Given the description of an element on the screen output the (x, y) to click on. 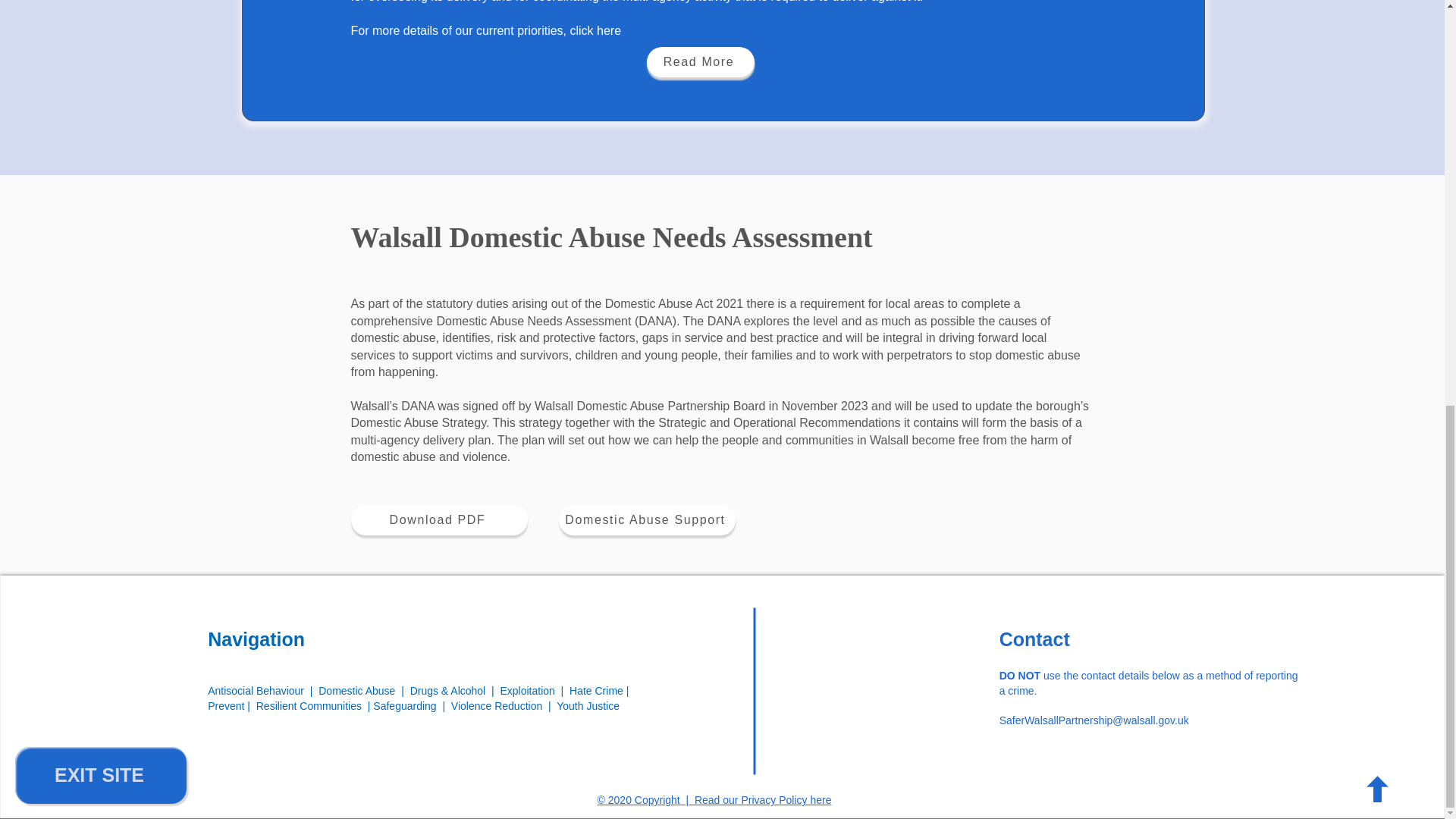
Prevent (227, 705)
Hate Crime (596, 690)
Download PDF (438, 520)
Youth Justice (588, 705)
Domestic Abuse (356, 690)
Domestic Abuse Support (646, 520)
Violence Reduction (496, 705)
Antisocial Behaviour (256, 690)
Read More (700, 61)
Exploitation  (529, 690)
Resilient Communities (308, 705)
Safeguarding  (407, 705)
